Given the description of an element on the screen output the (x, y) to click on. 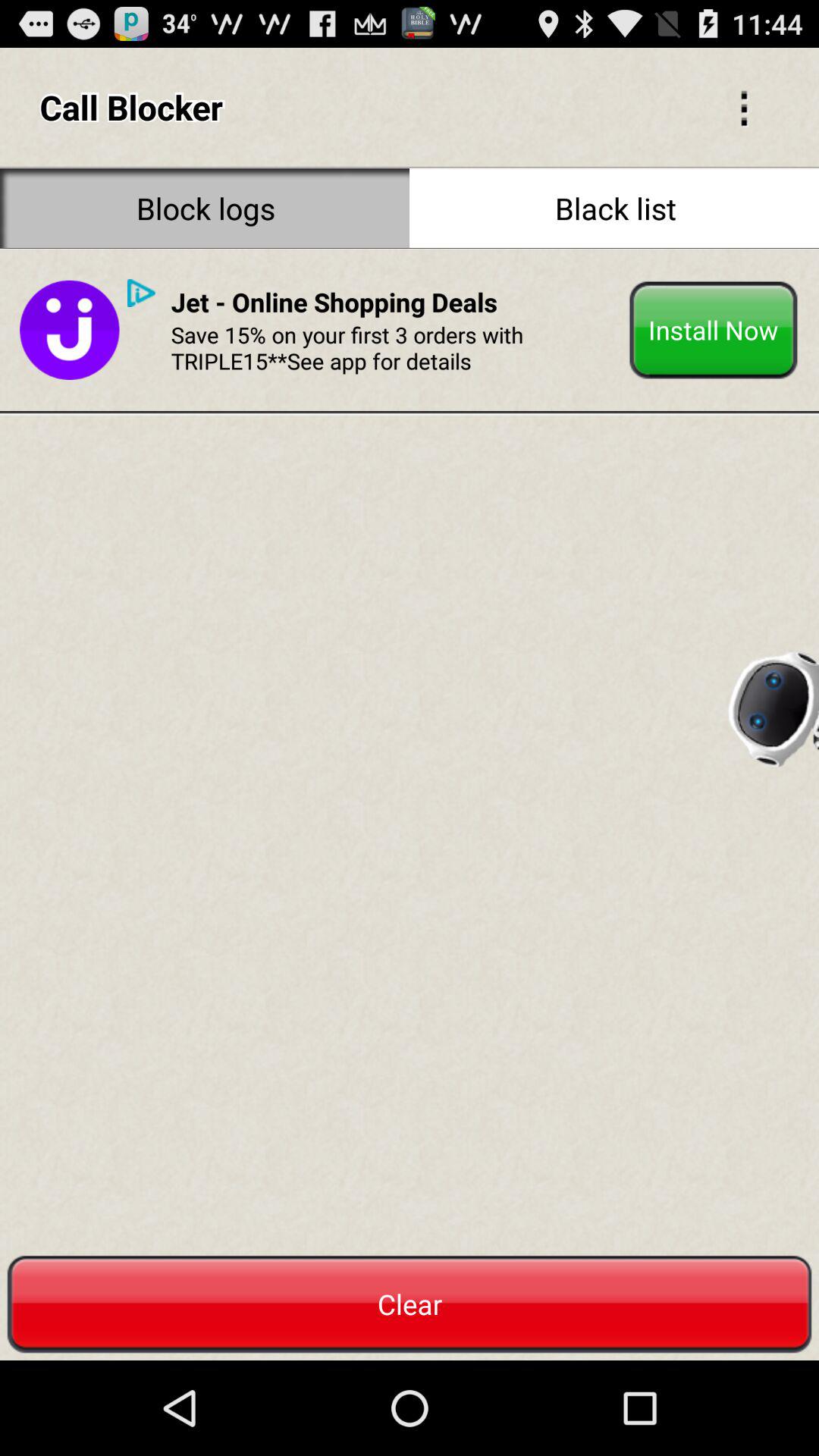
turn off jet online shopping (334, 301)
